Given the description of an element on the screen output the (x, y) to click on. 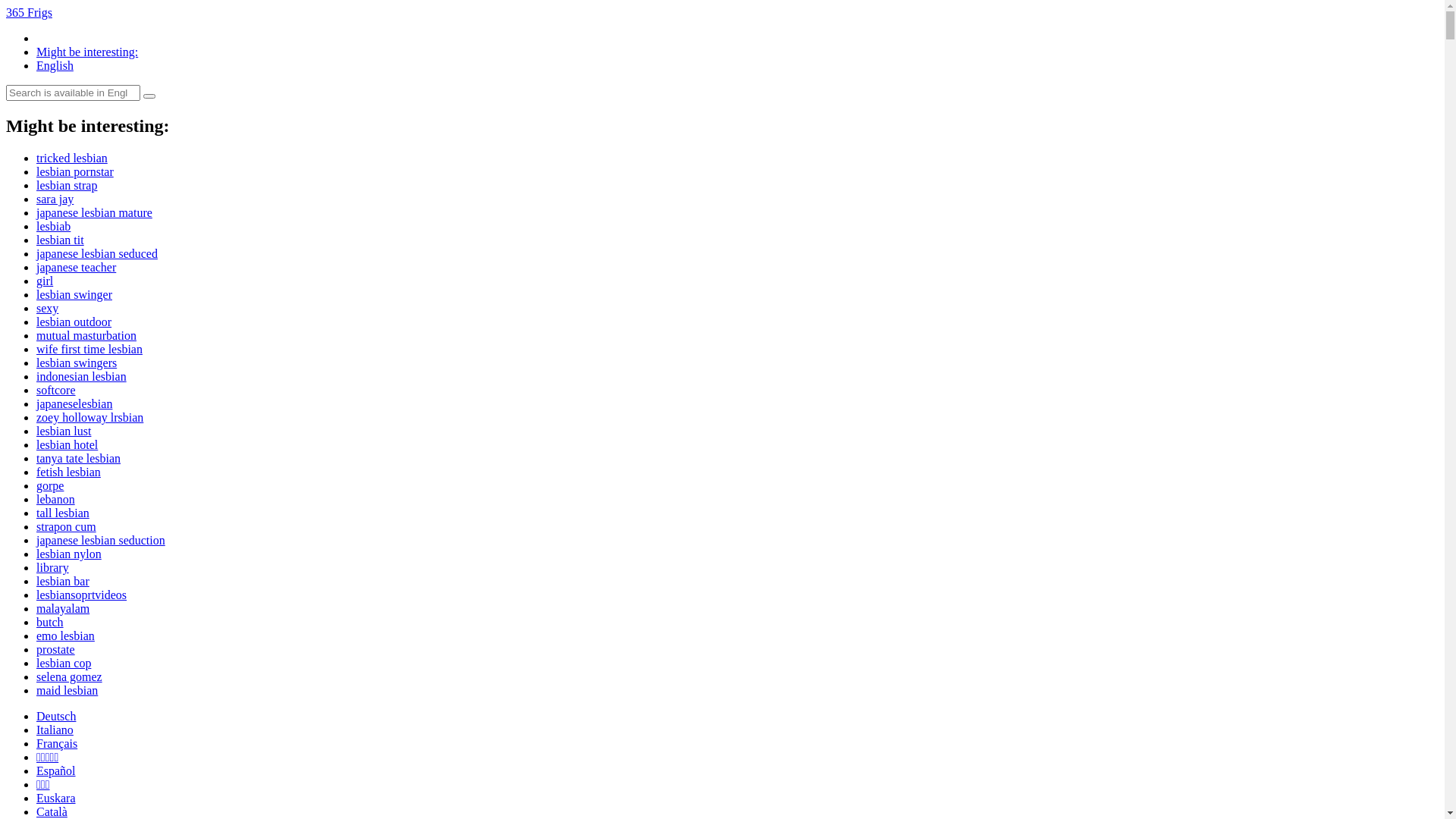
lesbian cop Element type: text (63, 662)
library Element type: text (52, 567)
lesbian swingers Element type: text (76, 362)
lesbiansoprtvideos Element type: text (81, 594)
mutual masturbation Element type: text (86, 335)
lesbian pornstar Element type: text (74, 171)
japanese lesbian seduced Element type: text (96, 253)
maid lesbian Element type: text (66, 690)
lesbian bar Element type: text (62, 580)
zoey holloway lrsbian Element type: text (89, 417)
wife first time lesbian Element type: text (89, 348)
sara jay Element type: text (54, 198)
Deutsch Element type: text (55, 715)
selena gomez Element type: text (69, 676)
lesbian outdoor Element type: text (73, 321)
lesbiab Element type: text (53, 225)
strapon cum Element type: text (66, 526)
sexy Element type: text (47, 307)
Euskara Element type: text (55, 797)
japanese lesbian mature Element type: text (94, 212)
lebanon Element type: text (55, 498)
lesbian lust Element type: text (63, 430)
lesbian nylon Element type: text (68, 553)
japanese lesbian seduction Element type: text (100, 539)
tricked lesbian Element type: text (71, 157)
lesbian tit Element type: text (60, 239)
Italiano Element type: text (54, 729)
malayalam Element type: text (62, 608)
butch Element type: text (49, 621)
lesbian hotel Element type: text (66, 444)
softcore Element type: text (55, 389)
girl Element type: text (44, 280)
365 Frigs Element type: text (29, 12)
japanese teacher Element type: text (76, 266)
lesbian swinger Element type: text (74, 294)
lesbian strap Element type: text (66, 184)
emo lesbian Element type: text (65, 635)
tanya tate lesbian Element type: text (78, 457)
Might be interesting: Element type: text (87, 51)
japaneselesbian Element type: text (74, 403)
prostate Element type: text (55, 649)
gorpe Element type: text (49, 485)
tall lesbian Element type: text (62, 512)
fetish lesbian Element type: text (68, 471)
indonesian lesbian Element type: text (81, 376)
English Element type: text (54, 65)
